Given the description of an element on the screen output the (x, y) to click on. 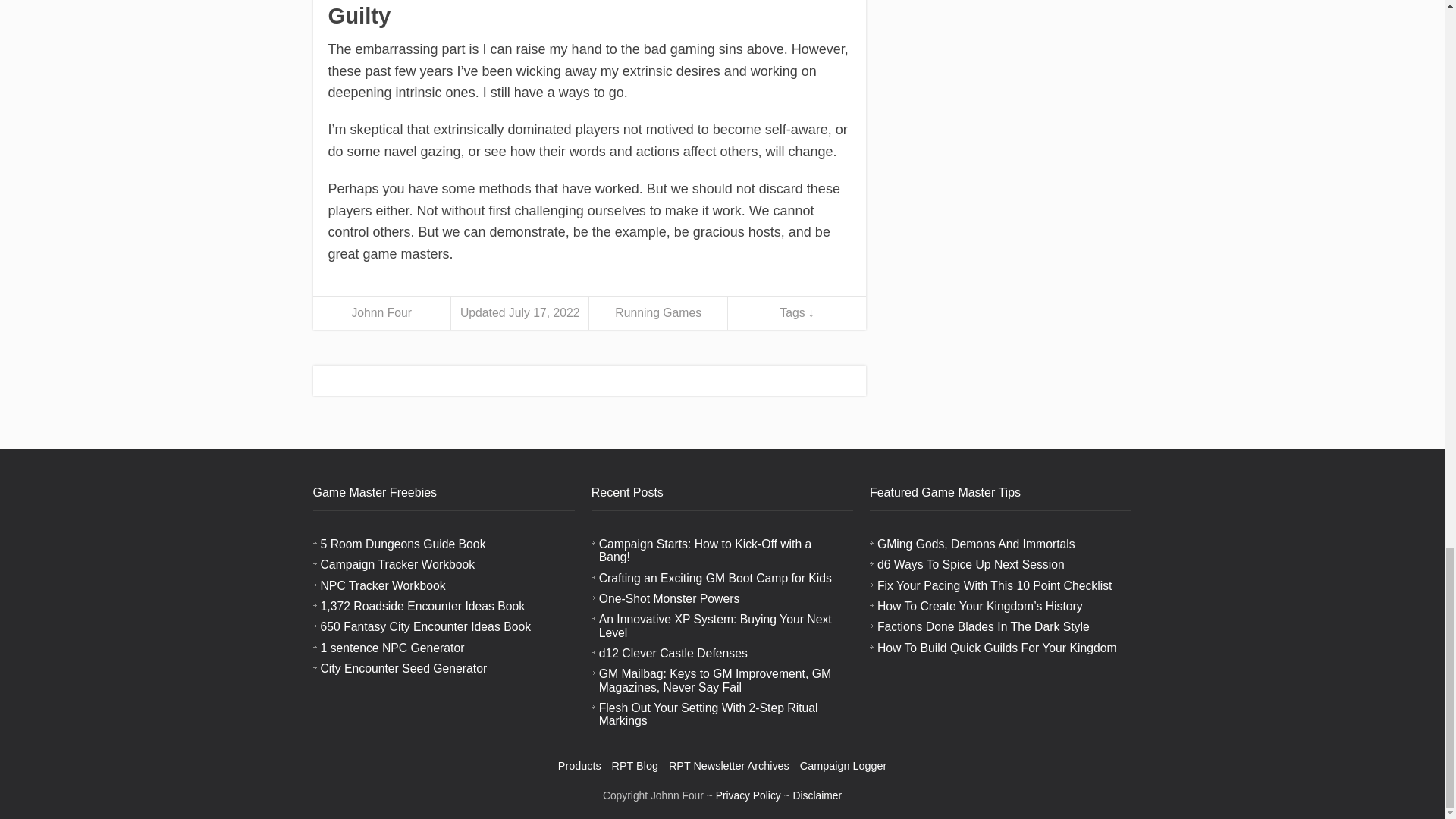
Johnn Four (381, 312)
